Given the description of an element on the screen output the (x, y) to click on. 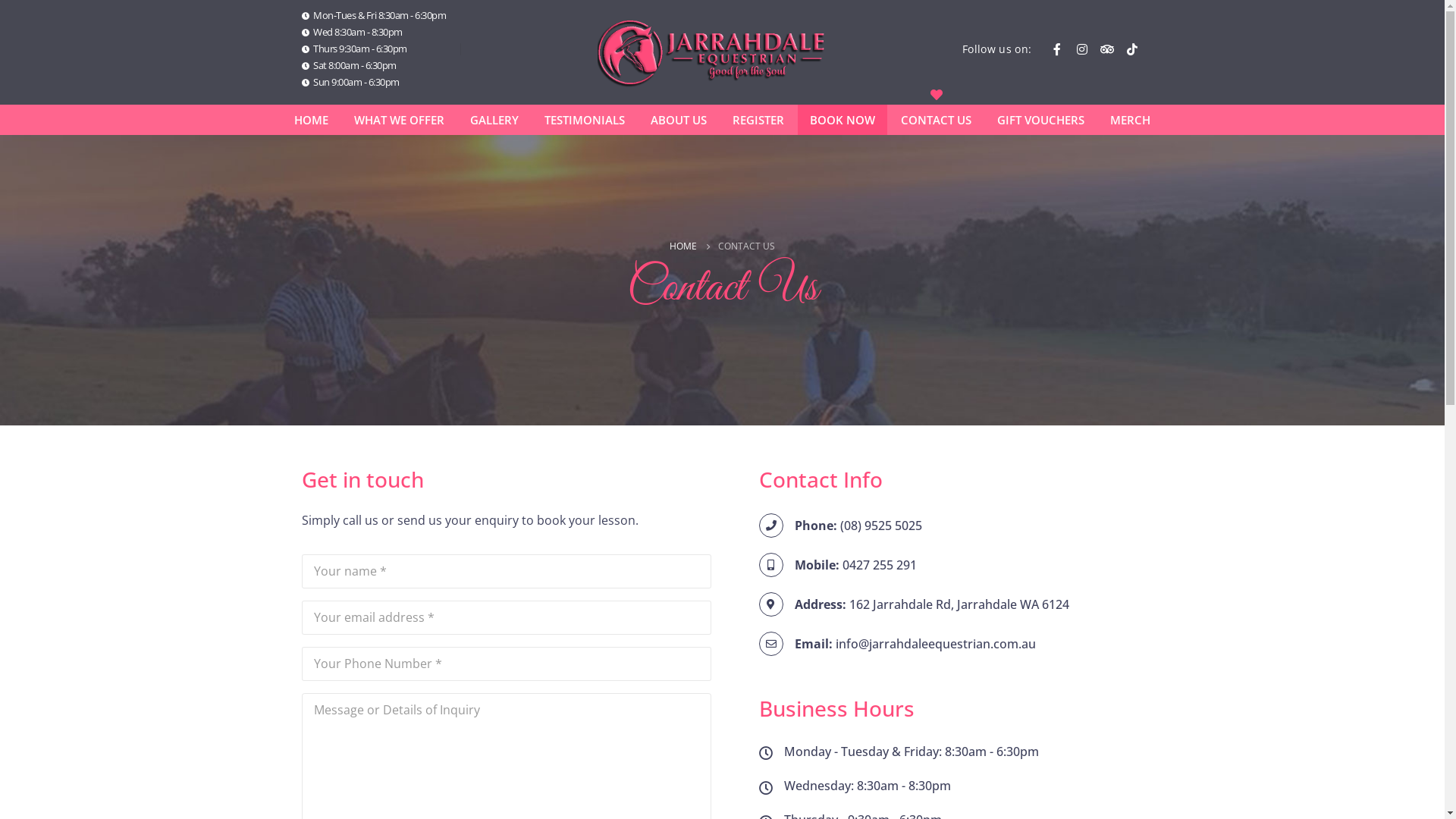
TripAdvisor Element type: hover (1106, 48)
CONTACT US Element type: text (935, 119)
MERCH Element type: text (1130, 119)
REGISTER Element type: text (758, 119)
HOME Element type: text (682, 245)
HOME Element type: text (311, 119)
ABOUT US Element type: text (678, 119)
GALLERY Element type: text (494, 119)
GIFT VOUCHERS Element type: text (1040, 119)
TESTIMONIALS Element type: text (584, 119)
Jarrahdale Equestrian Centre - Good for the soul Element type: hover (711, 52)
Tiktok Element type: hover (1131, 48)
BOOK NOW Element type: text (842, 119)
Email: info@jarrahdaleequestrian.com.au Element type: text (950, 643)
Phone: (08) 9525 5025 Element type: text (950, 525)
Instagram Element type: hover (1081, 48)
Facebook Element type: hover (1056, 48)
WHAT WE OFFER Element type: text (399, 119)
Mobile: 0427 255 291 Element type: text (950, 564)
